Given the description of an element on the screen output the (x, y) to click on. 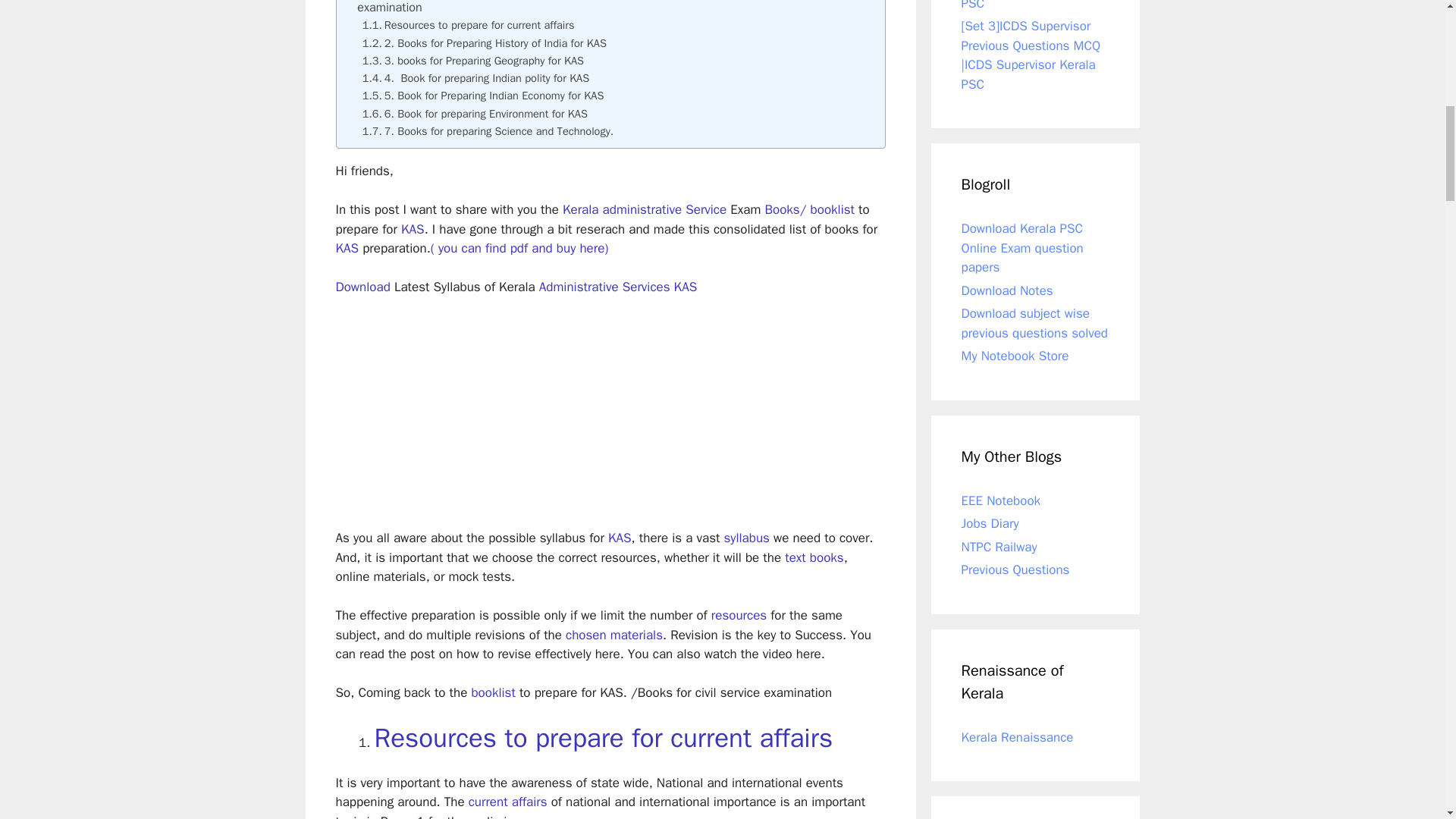
5. Book for Preparing Indian Economy for KAS (483, 95)
booklist (492, 692)
7. Books for preparing Science and Technology. (487, 131)
current affairs (507, 801)
Resources to prepare for current affairs (468, 25)
2. Books for Preparing History of India for KAS (484, 43)
KAS (346, 248)
4.  Book for preparing Indian polity for KAS (475, 77)
syllabus (745, 537)
3. books for Preparing Geography for KAS (472, 60)
